Given the description of an element on the screen output the (x, y) to click on. 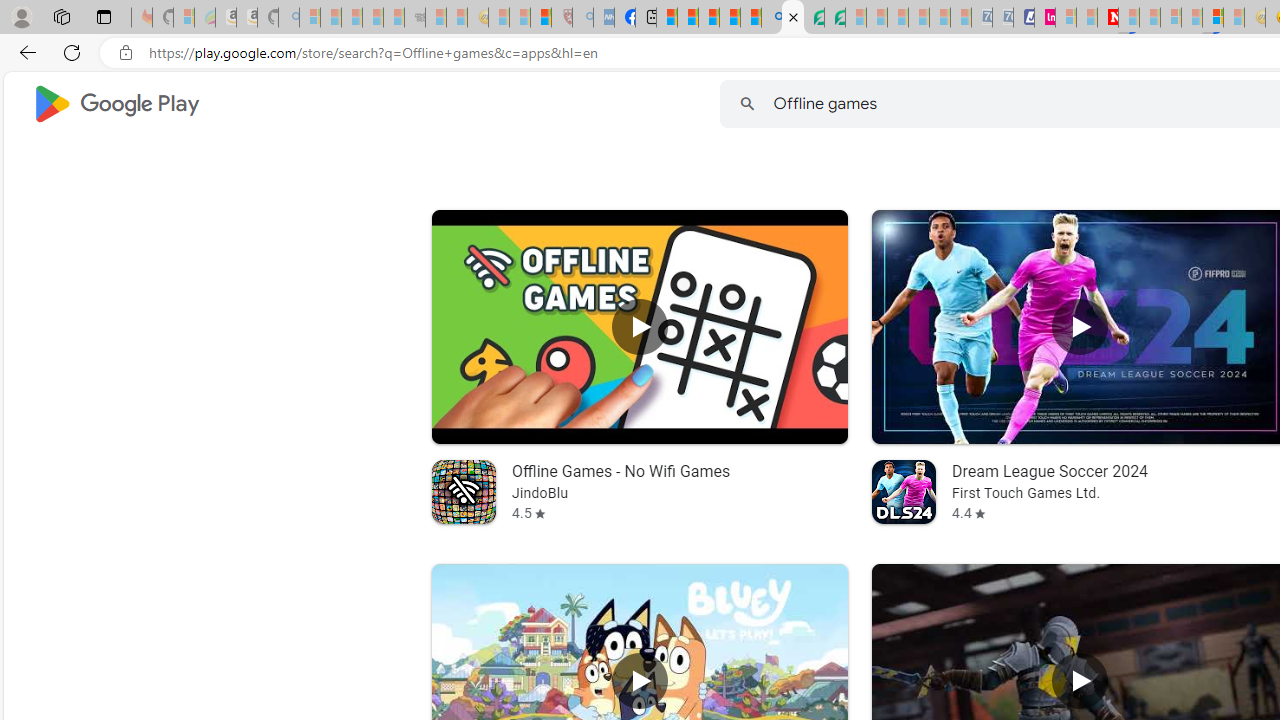
Microsoft account | Privacy - Sleeping (1066, 17)
MSNBC - MSN (666, 17)
Tab actions menu (104, 16)
list of asthma inhalers uk - Search - Sleeping (582, 17)
New tab (646, 17)
Cheap Car Rentals - Save70.com - Sleeping (981, 17)
Play Shadow Fight 3 - RPG fighting (1079, 681)
